Given the description of an element on the screen output the (x, y) to click on. 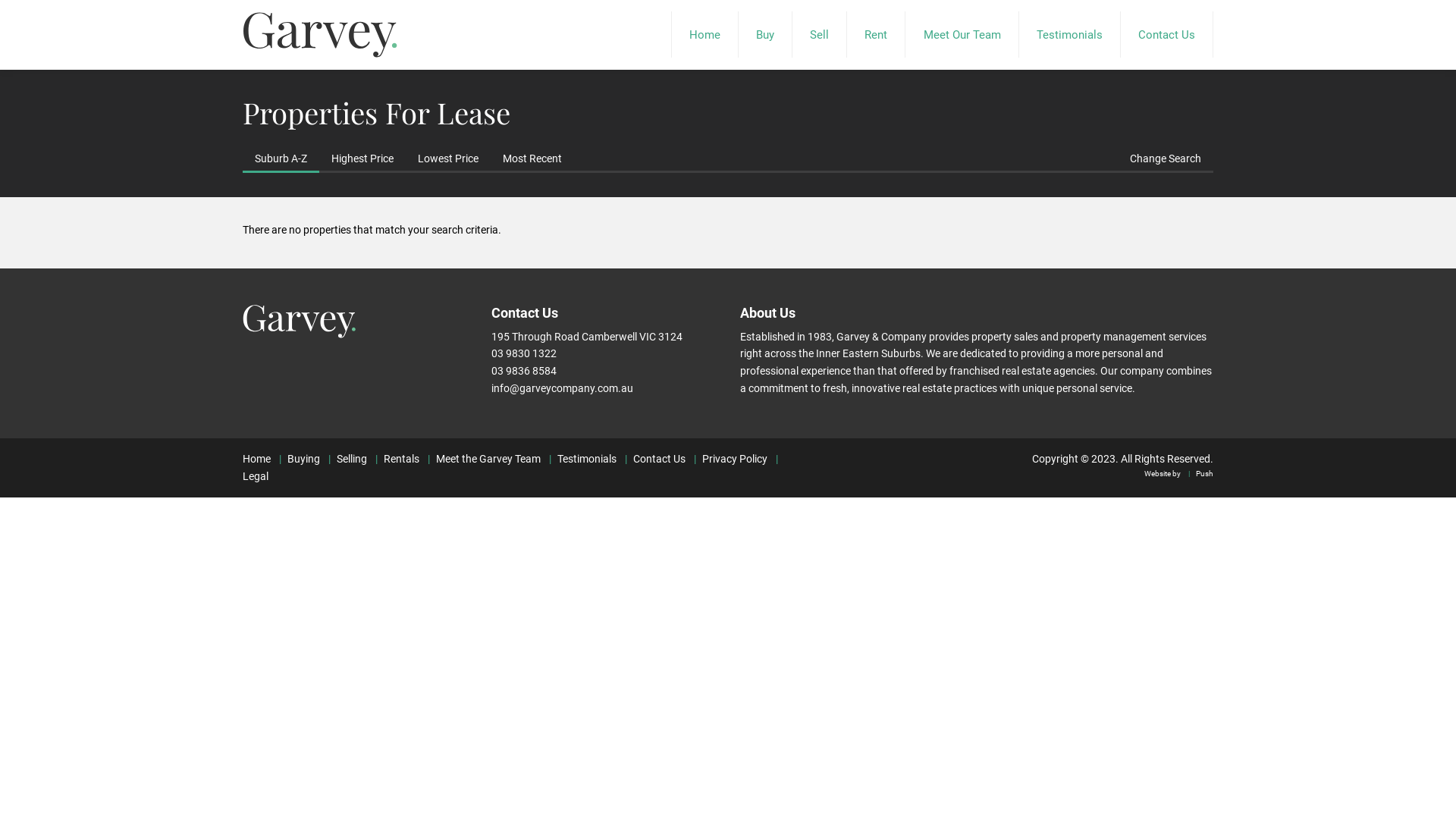
Buying Element type: text (296, 458)
Meet Our Team Element type: text (961, 34)
Selling Element type: text (344, 458)
Contact Us Element type: text (651, 458)
Meet the Garvey Team Element type: text (480, 458)
Testimonials Element type: text (579, 458)
Rent Element type: text (875, 34)
Sell Element type: text (819, 34)
Rentals Element type: text (394, 458)
Home Element type: text (256, 458)
Legal Element type: text (513, 467)
Highest Price Element type: text (362, 158)
Most Recent Element type: text (531, 158)
Testimonials Element type: text (1069, 34)
Push Element type: text (1197, 473)
Contact Us Element type: text (1166, 34)
Home Element type: text (704, 34)
Suburb A-Z Element type: text (280, 158)
Lowest Price Element type: text (447, 158)
Privacy Policy Element type: text (727, 458)
Buy Element type: text (764, 34)
info@garveycompany.com.au Element type: text (562, 388)
Website Element type: text (1157, 473)
Change Search Element type: text (1165, 158)
